Given the description of an element on the screen output the (x, y) to click on. 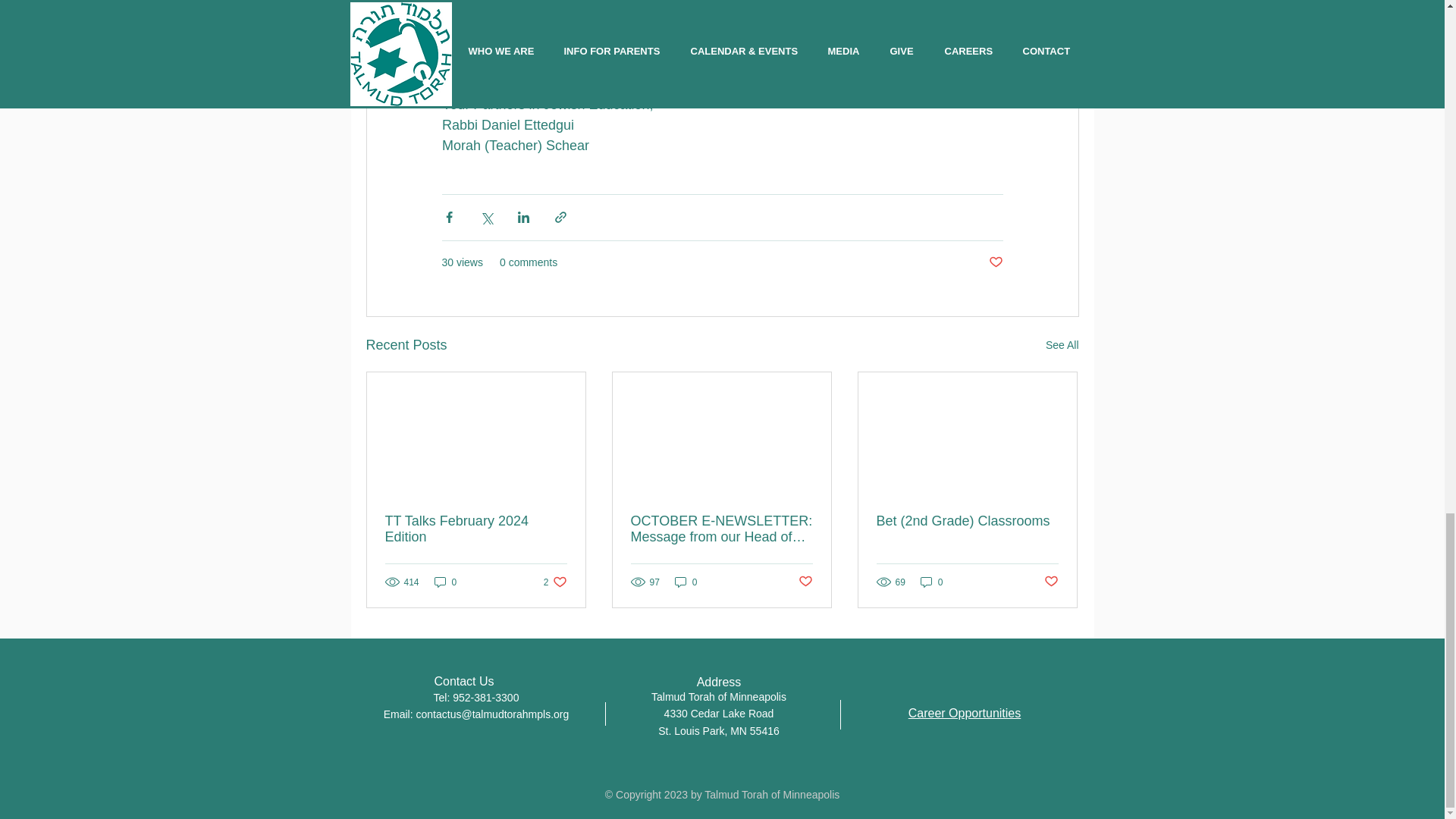
See All (1061, 345)
Post not marked as liked (995, 262)
